Given the description of an element on the screen output the (x, y) to click on. 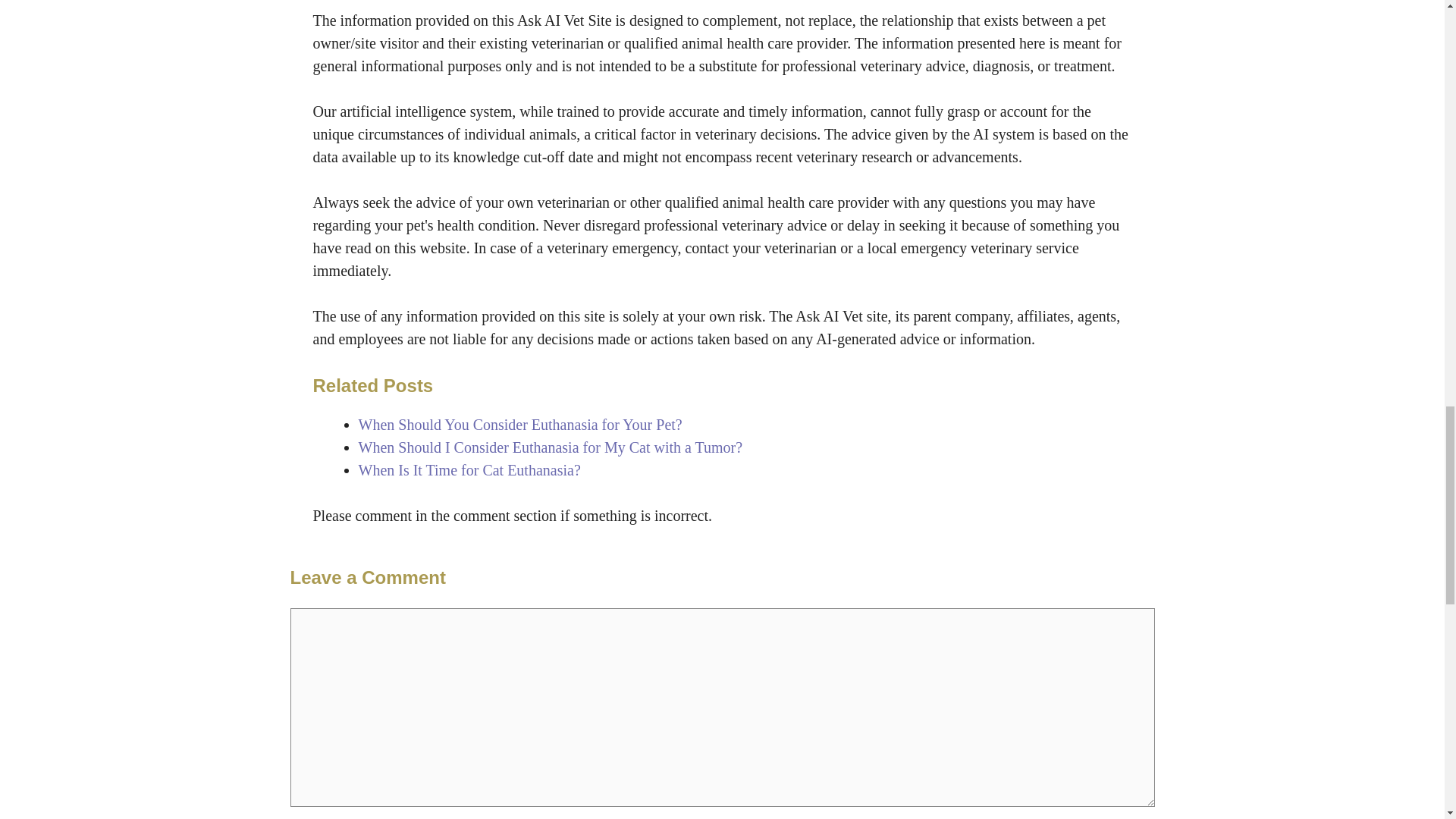
When Should You Consider Euthanasia for Your Pet? (519, 424)
When Is It Time for Cat Euthanasia? (468, 469)
When Should I Consider Euthanasia for My Cat with a Tumor? (550, 446)
